Given the description of an element on the screen output the (x, y) to click on. 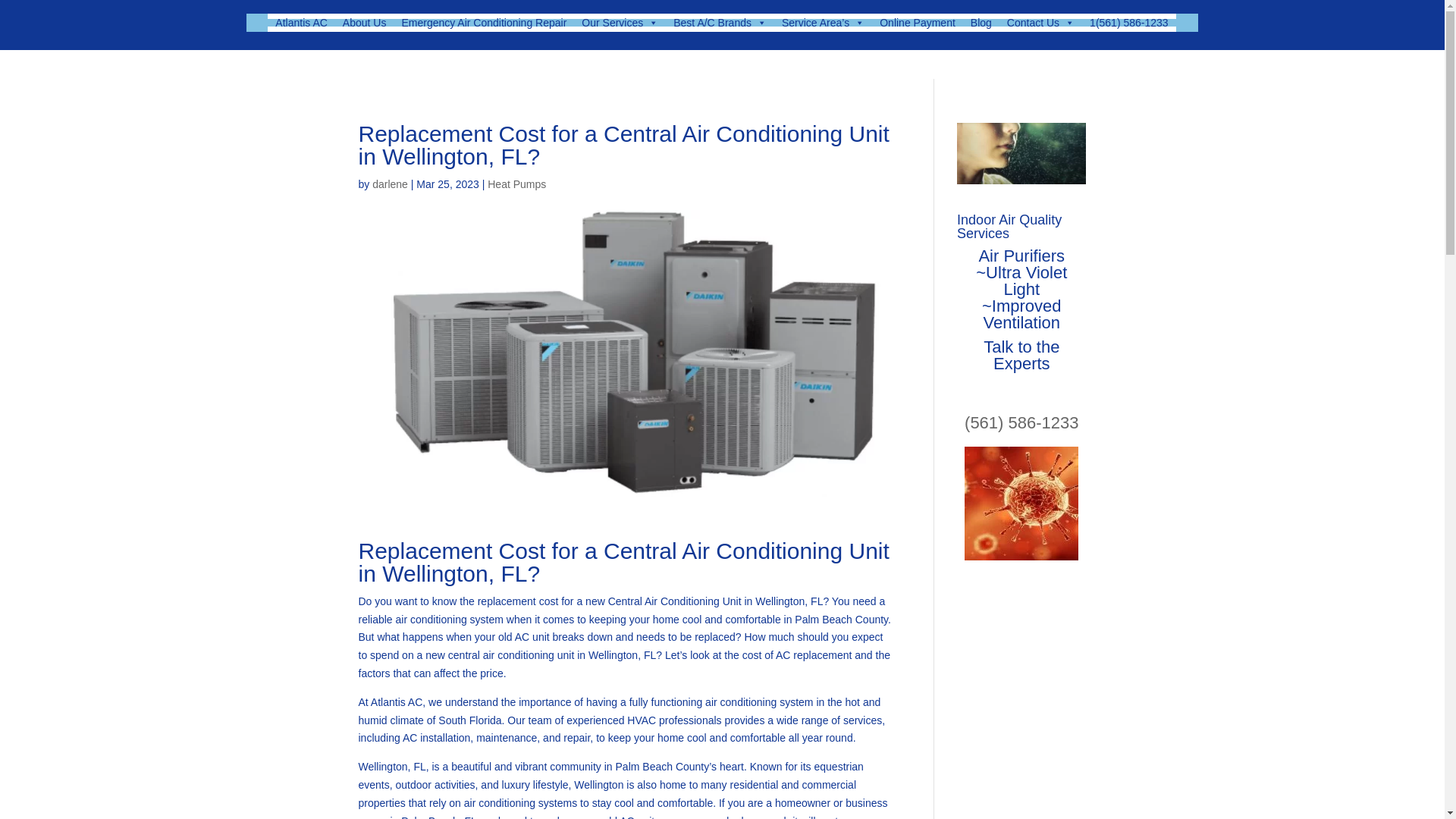
Our Services (619, 22)
Emergency Air Conditioning Repair (483, 22)
Atlantis AC (300, 22)
Posts by darlene (389, 184)
About Us (364, 22)
